Given the description of an element on the screen output the (x, y) to click on. 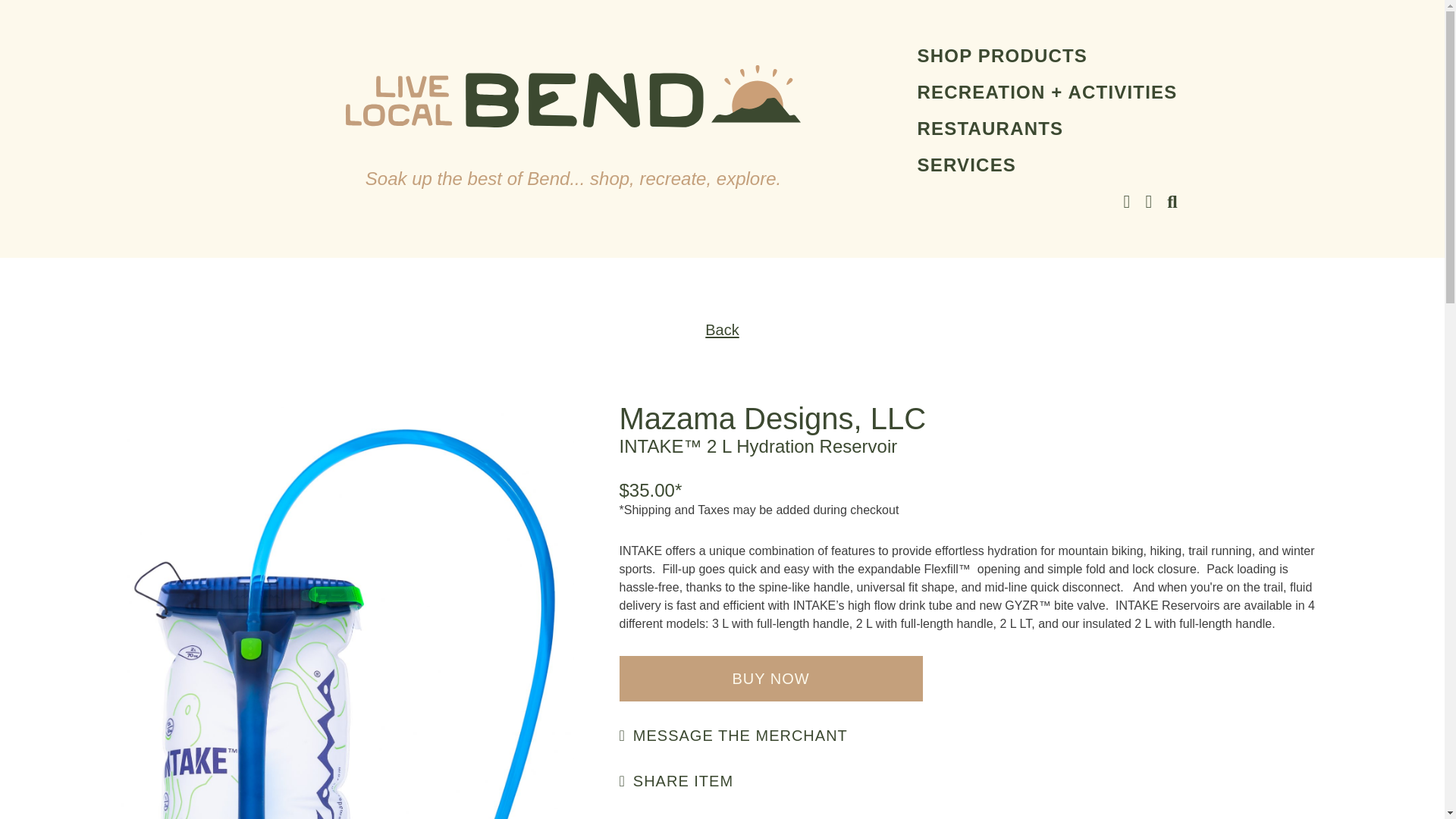
Back (721, 329)
MESSAGE THE MERCHANT (732, 735)
Mazama Designs, LLC (772, 418)
RESTAURANTS (1047, 128)
SHOP PRODUCTS (1047, 55)
SERVICES (1047, 165)
BUY NOW (769, 678)
